Given the description of an element on the screen output the (x, y) to click on. 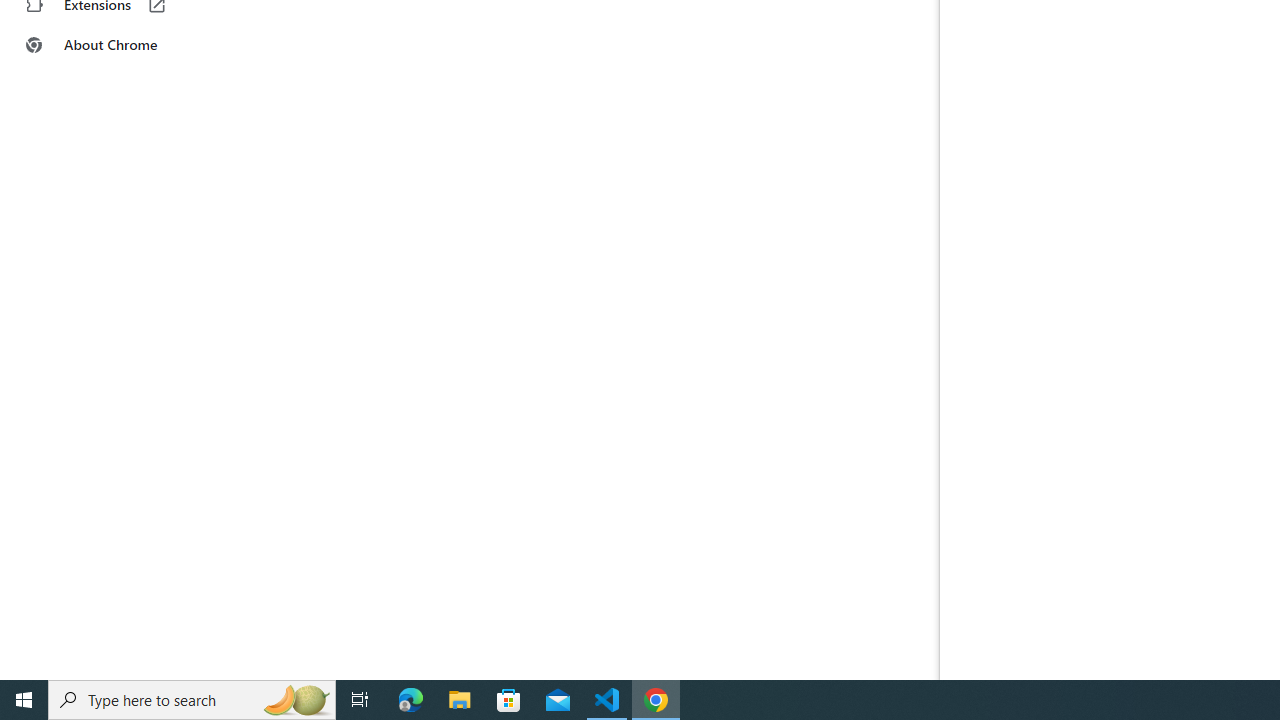
About Chrome (124, 44)
